Given the description of an element on the screen output the (x, y) to click on. 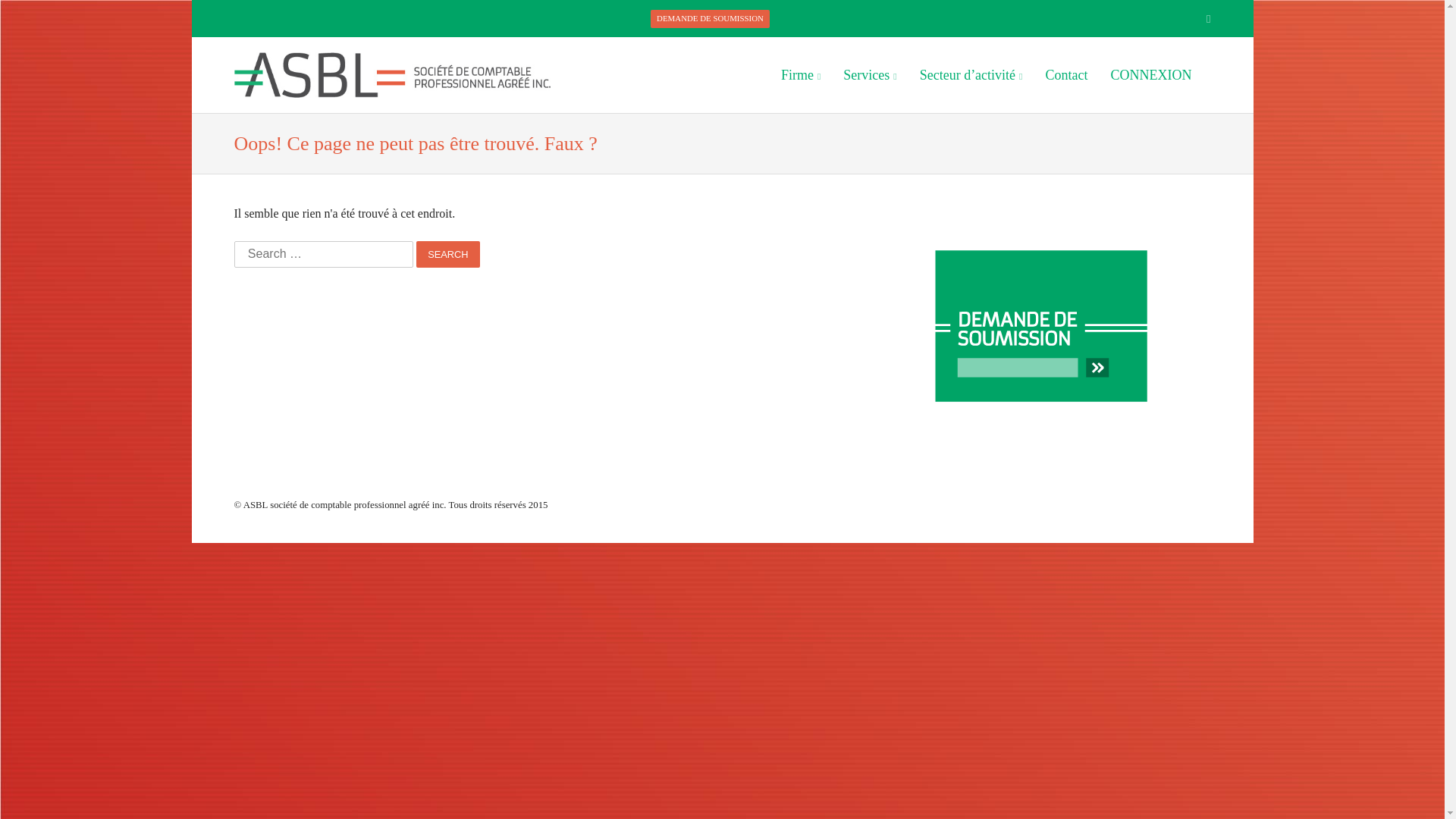
Skip to content Element type: text (794, 74)
Search Element type: text (447, 254)
DEMANDE DE SOUMISSION Element type: text (709, 18)
Firme Element type: text (800, 74)
ASBL Element type: hover (391, 74)
Contact Element type: text (1065, 74)
CONNEXION Element type: text (1150, 74)
Services Element type: text (869, 74)
Search for: Element type: hover (323, 254)
